Given the description of an element on the screen output the (x, y) to click on. 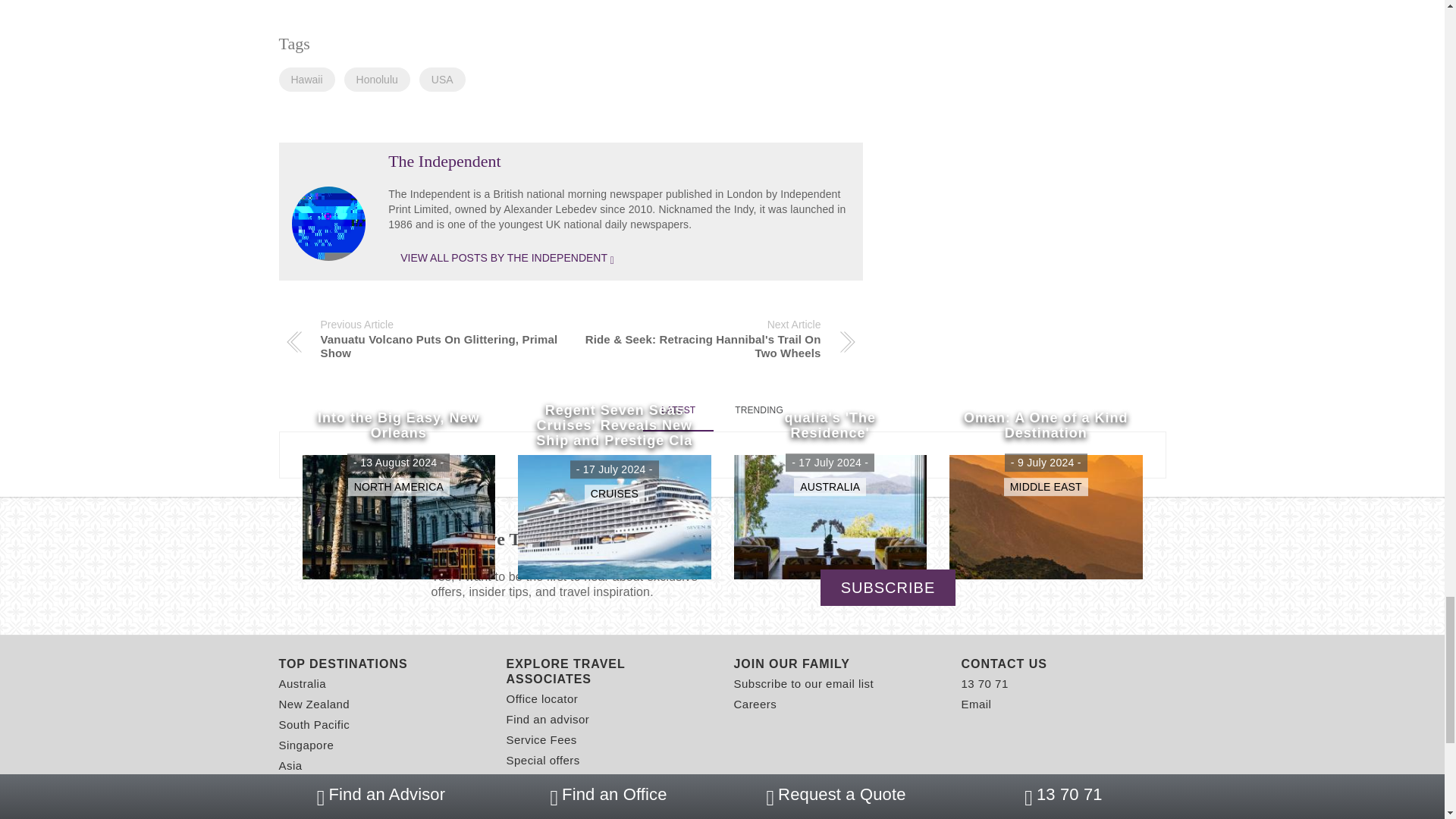
Join our family (836, 663)
instagram (1023, 805)
facebook (968, 805)
twitter (996, 805)
Top Destinations (381, 663)
linkedin (1050, 805)
Explore Travel Associates (608, 671)
Contact Us (1063, 663)
youtube (1078, 805)
